Given the description of an element on the screen output the (x, y) to click on. 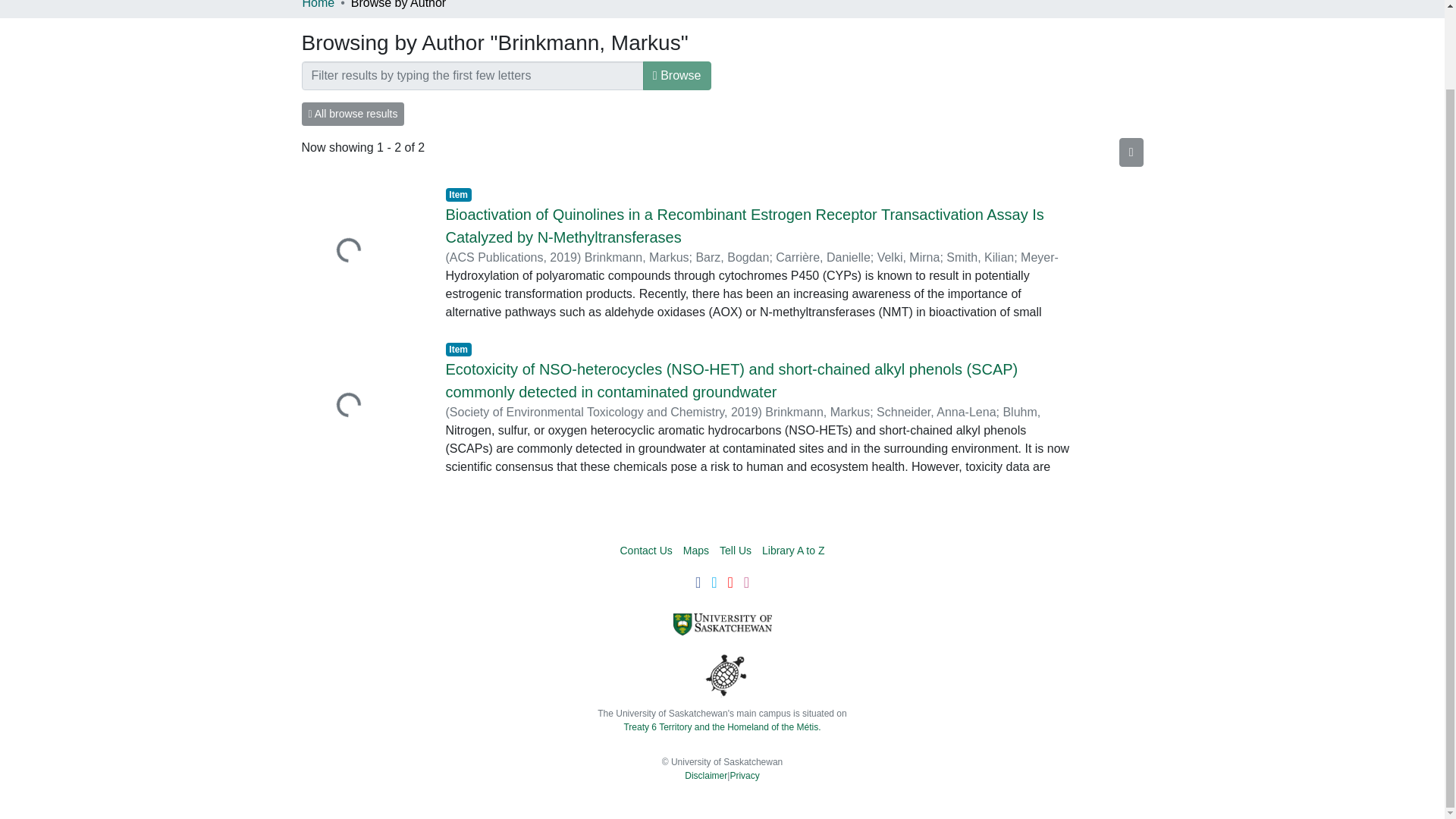
Loading... (362, 406)
Browse (677, 75)
Home (317, 6)
Library A to Z (792, 550)
Loading... (362, 252)
Maps (695, 550)
All browse results (352, 114)
Contact Us (646, 550)
Tell Us (735, 550)
